Given the description of an element on the screen output the (x, y) to click on. 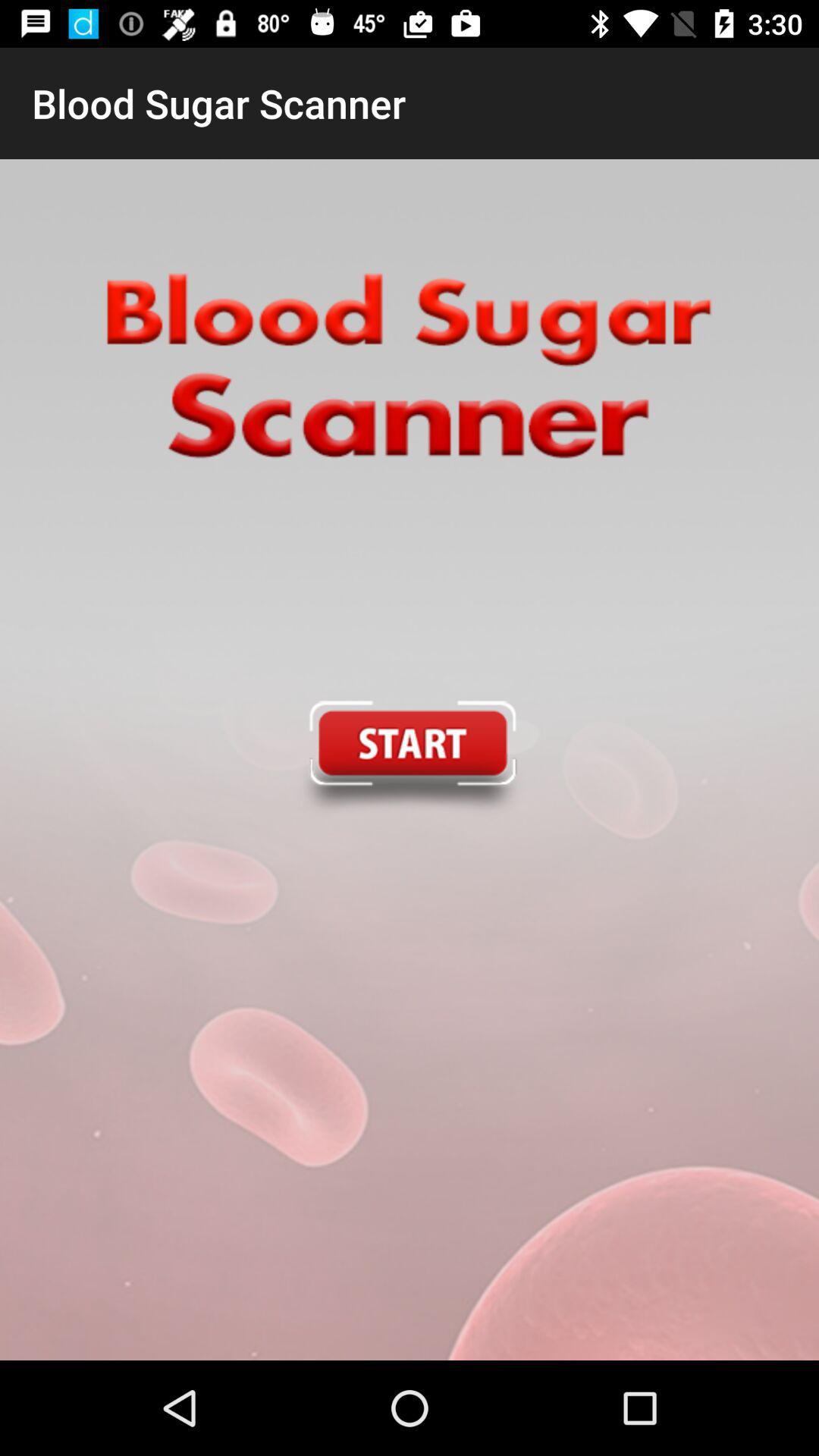
start button page (409, 759)
